Given the description of an element on the screen output the (x, y) to click on. 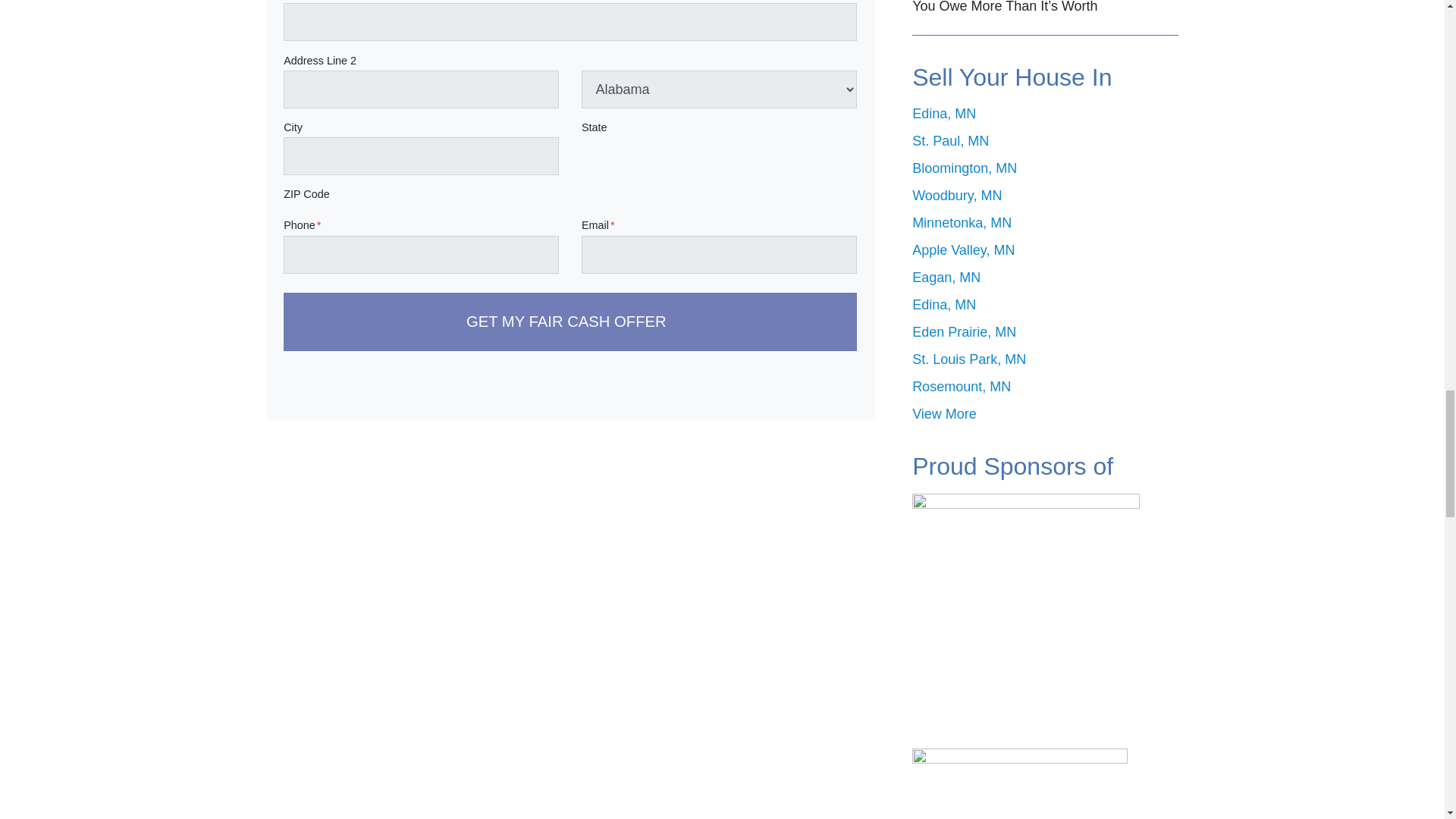
YouTube (845, 389)
GET MY FAIR CASH OFFER (570, 321)
St. Paul, MN (950, 140)
Twitter (769, 389)
Edina, MN (943, 113)
Facebook (807, 389)
